Given the description of an element on the screen output the (x, y) to click on. 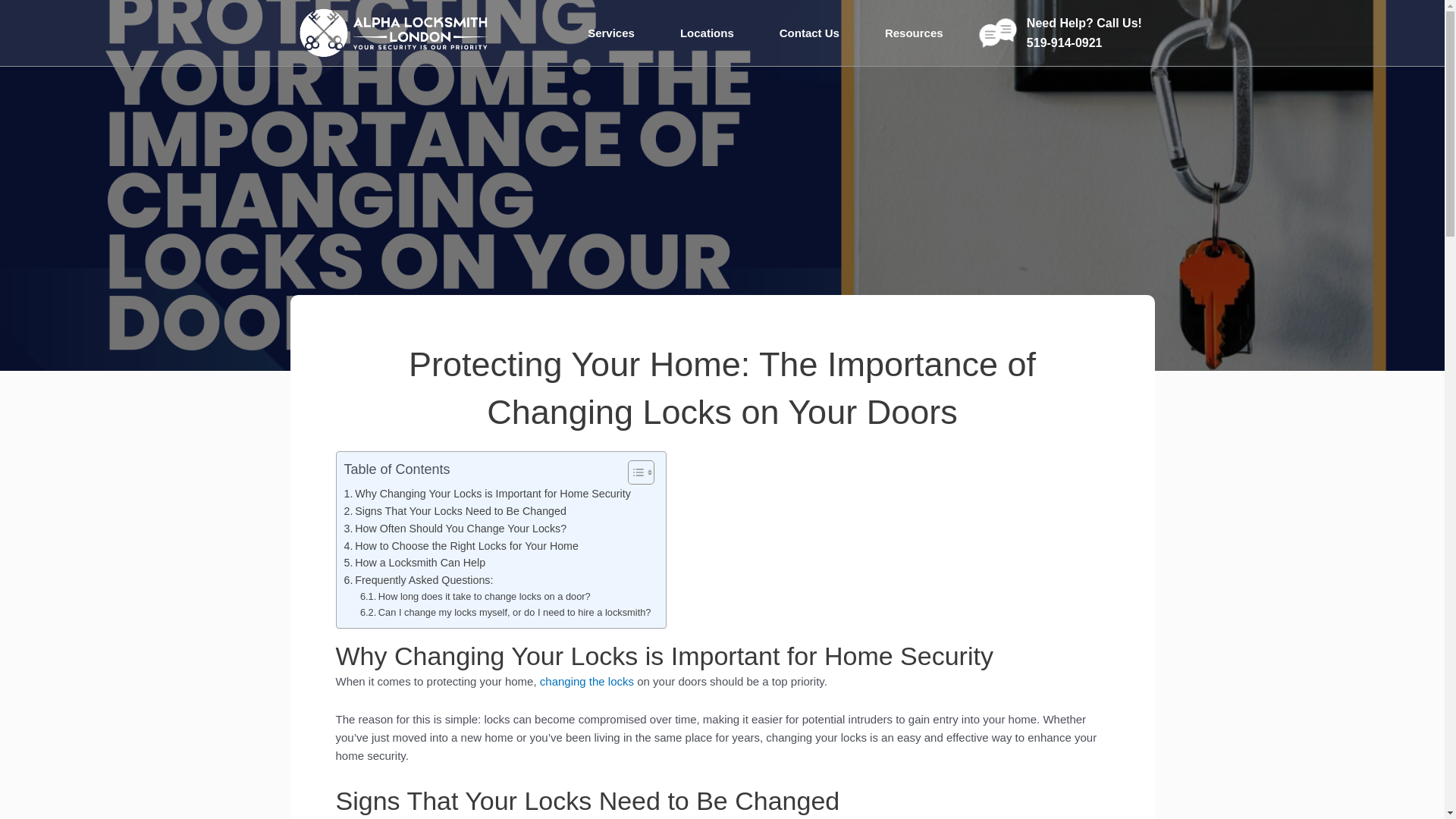
How Often Should You Change Your Locks? (455, 528)
How a Locksmith Can Help (414, 562)
Services (611, 32)
Resources (913, 32)
Locations (707, 32)
Frequently Asked Questions: (418, 579)
Why Changing Your Locks is Important for Home Security (486, 493)
How long does it take to change locks on a door?  (475, 596)
Contact Us (809, 32)
